Given the description of an element on the screen output the (x, y) to click on. 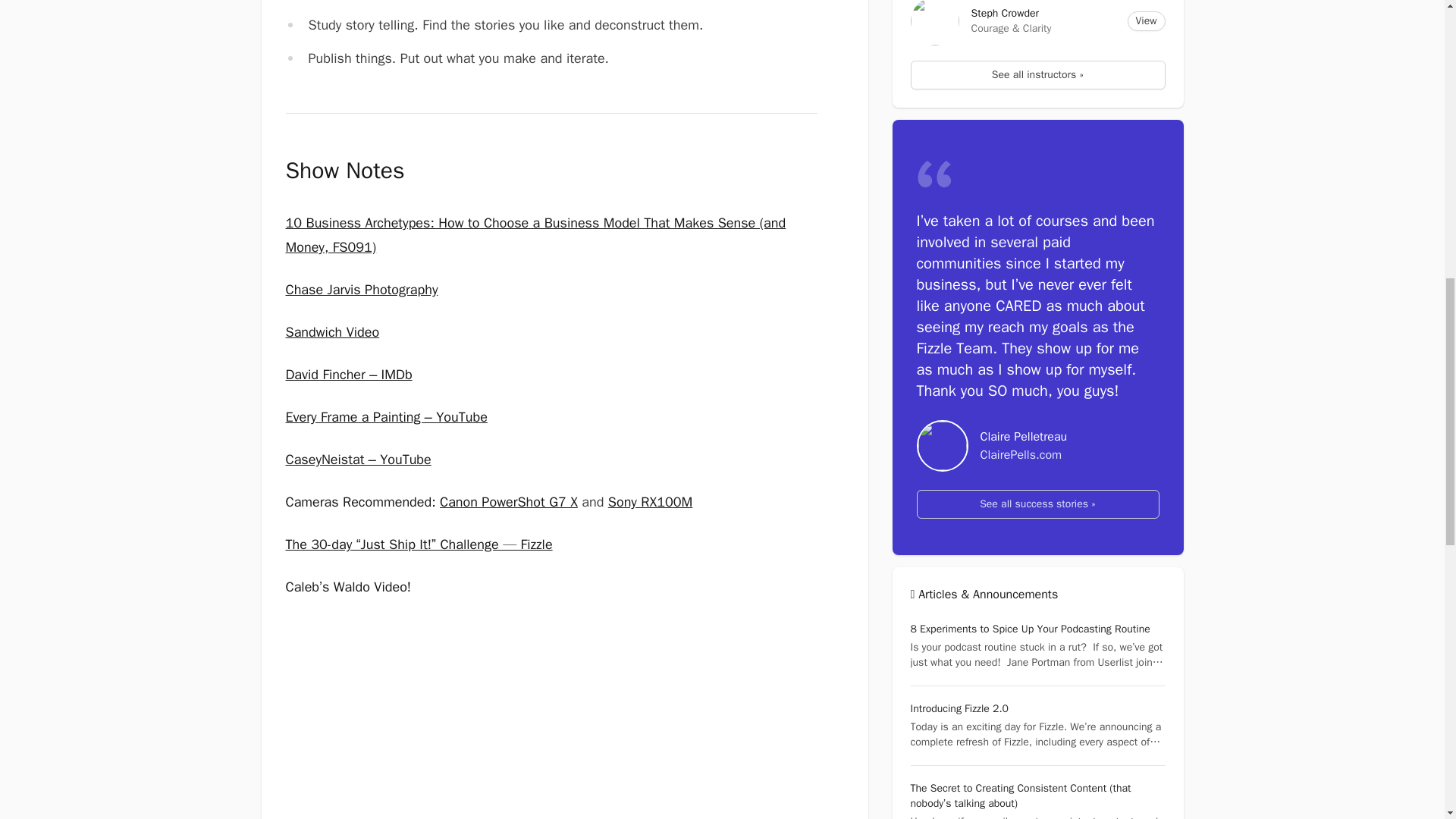
Canon PowerShot G7 X (508, 501)
Sandwich Video (331, 331)
Sony RX100M (650, 501)
Chase Jarvis Photography (361, 289)
